Given the description of an element on the screen output the (x, y) to click on. 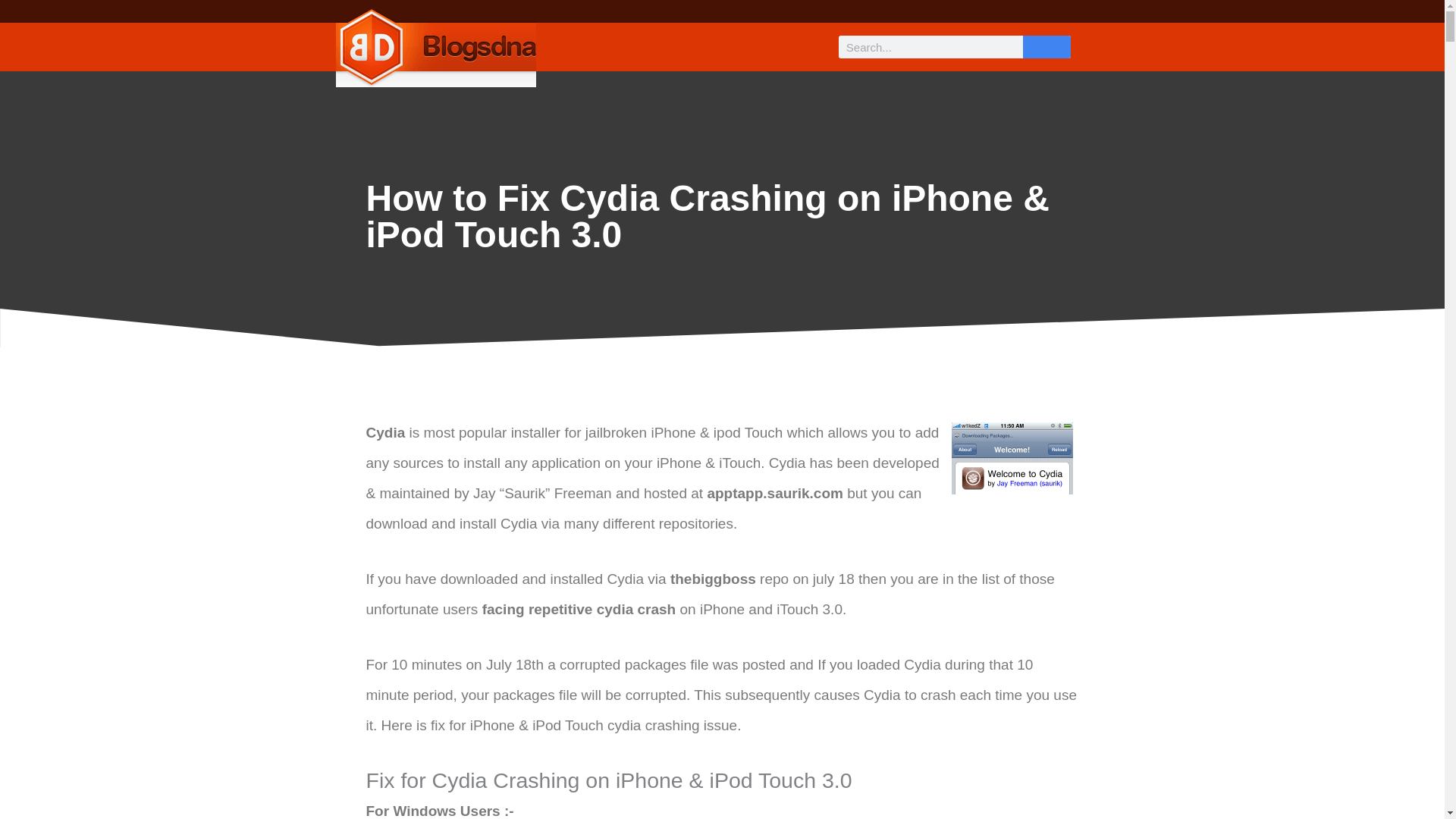
logo-croped (434, 47)
Search (1046, 47)
Cydia Crashing on iPhone 3.0 (1010, 457)
